Given the description of an element on the screen output the (x, y) to click on. 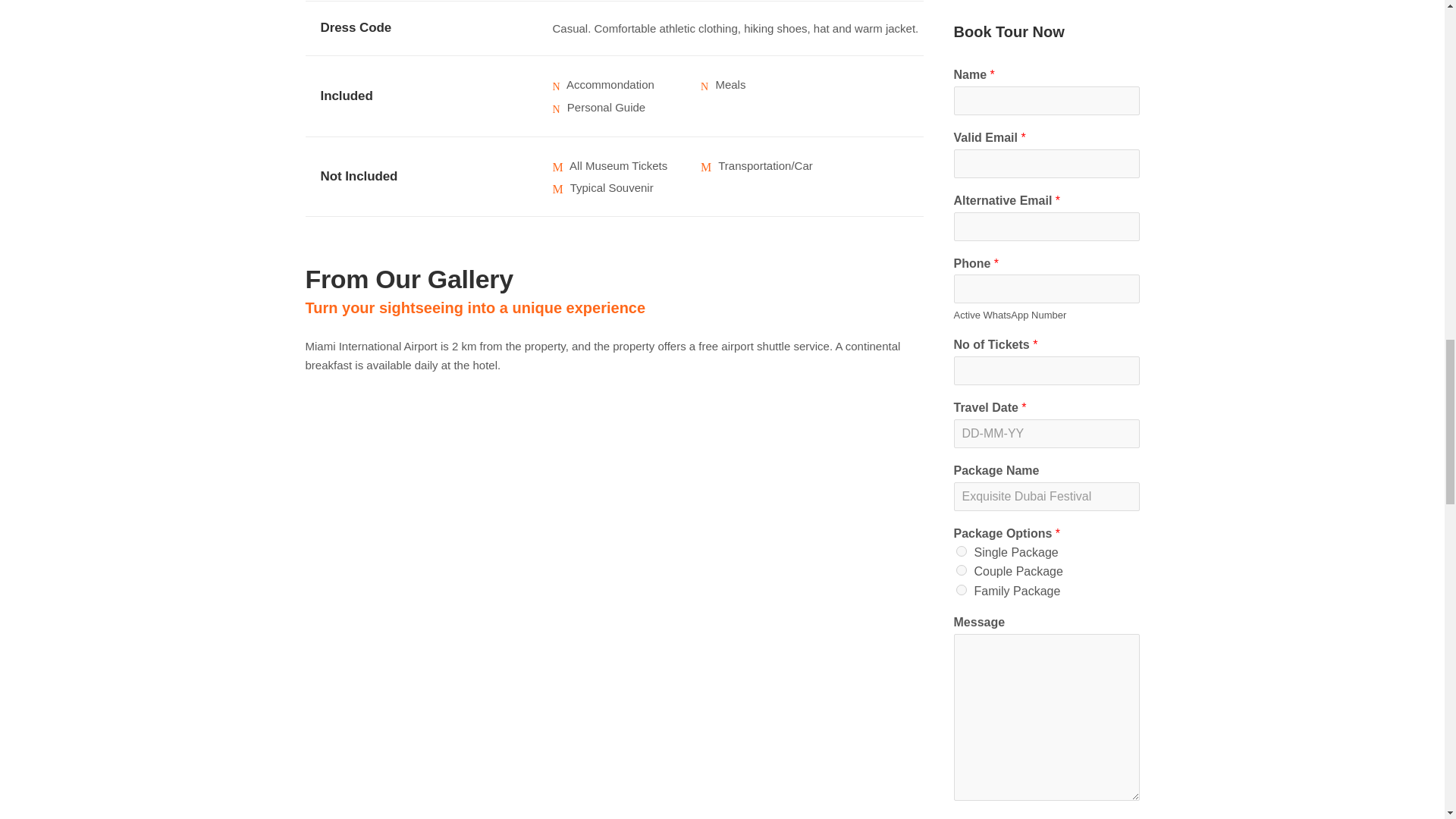
Single Package (960, 551)
Family Package (960, 589)
Couple Package (960, 570)
